Given the description of an element on the screen output the (x, y) to click on. 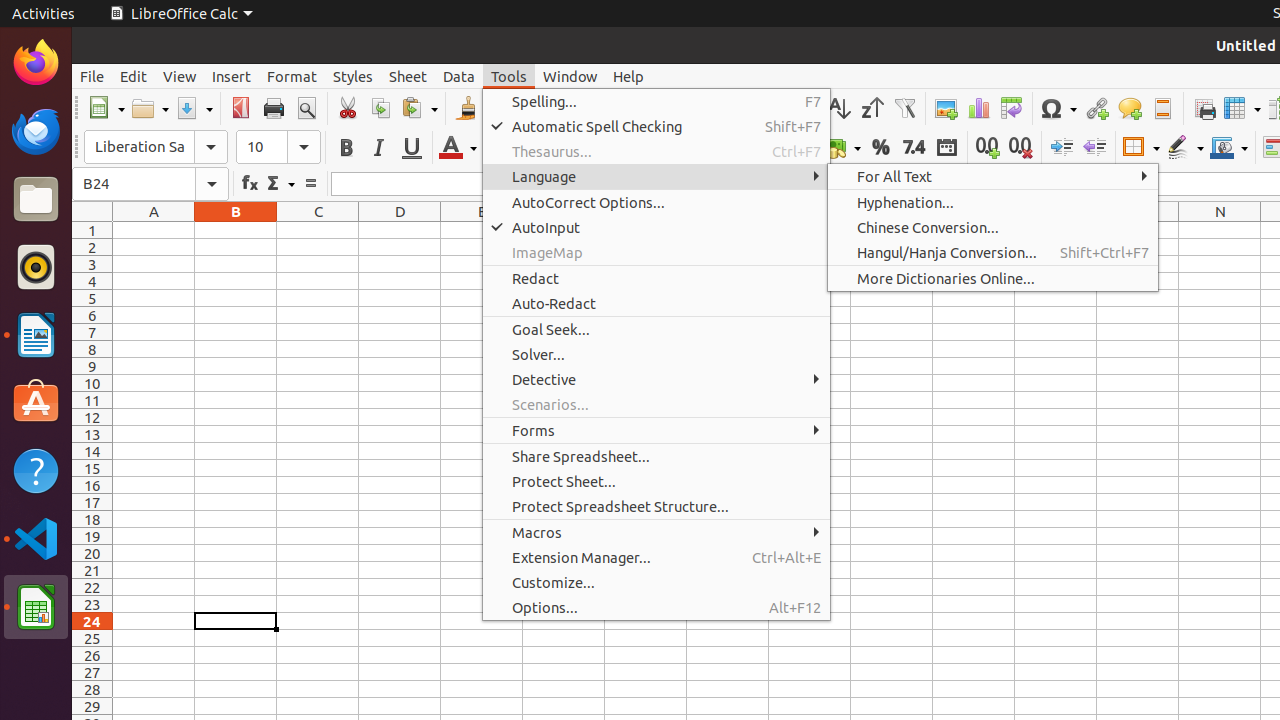
Name Box Element type: panel (150, 184)
View Element type: menu (179, 76)
Border Color Element type: push-button (1229, 147)
Auto-Redact Element type: menu-item (656, 303)
